Given the description of an element on the screen output the (x, y) to click on. 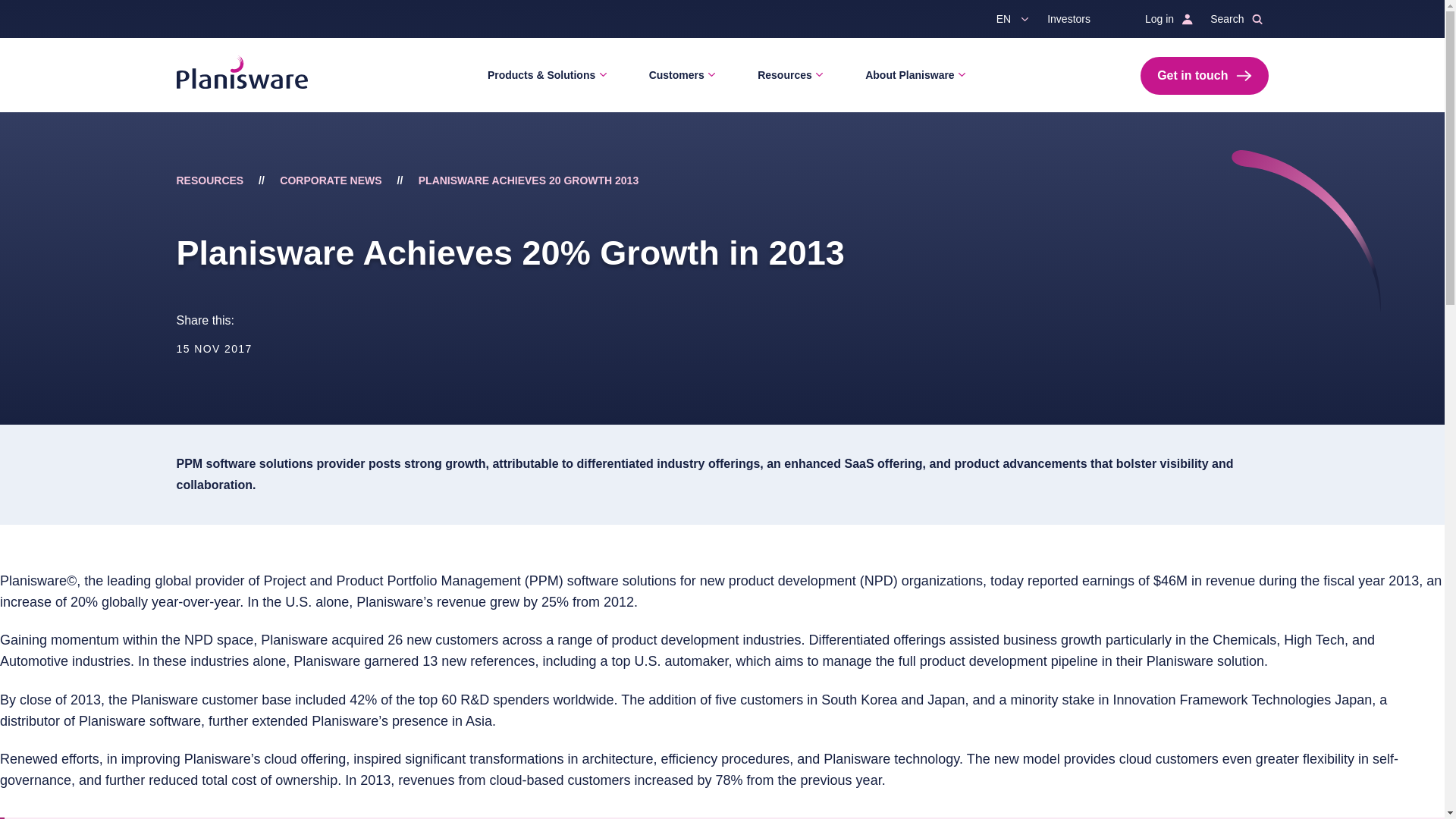
Log in (1165, 18)
Customers (679, 75)
Investors (1075, 18)
